Given the description of an element on the screen output the (x, y) to click on. 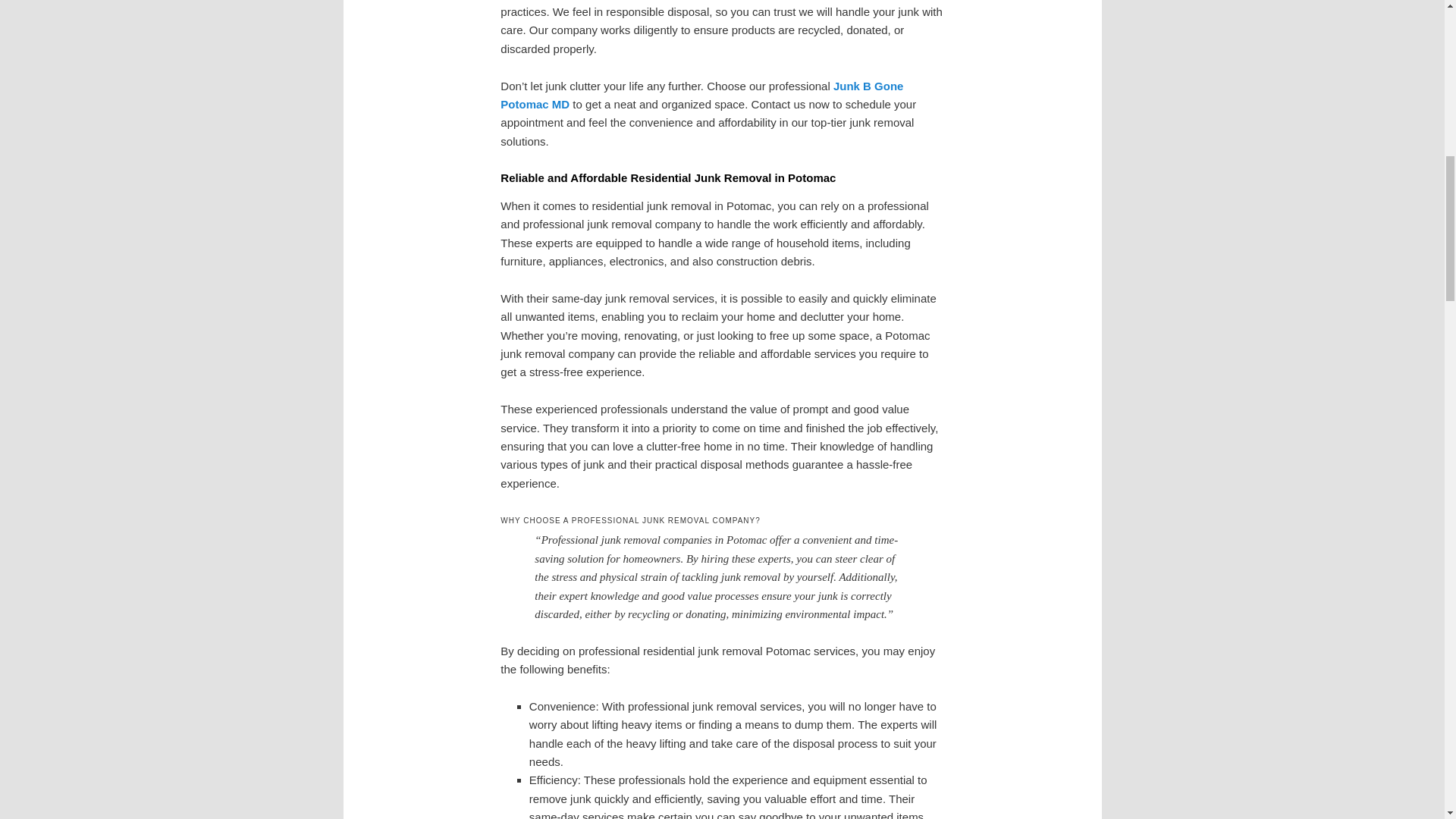
Junk B Gone Potomac MD (701, 94)
